Given the description of an element on the screen output the (x, y) to click on. 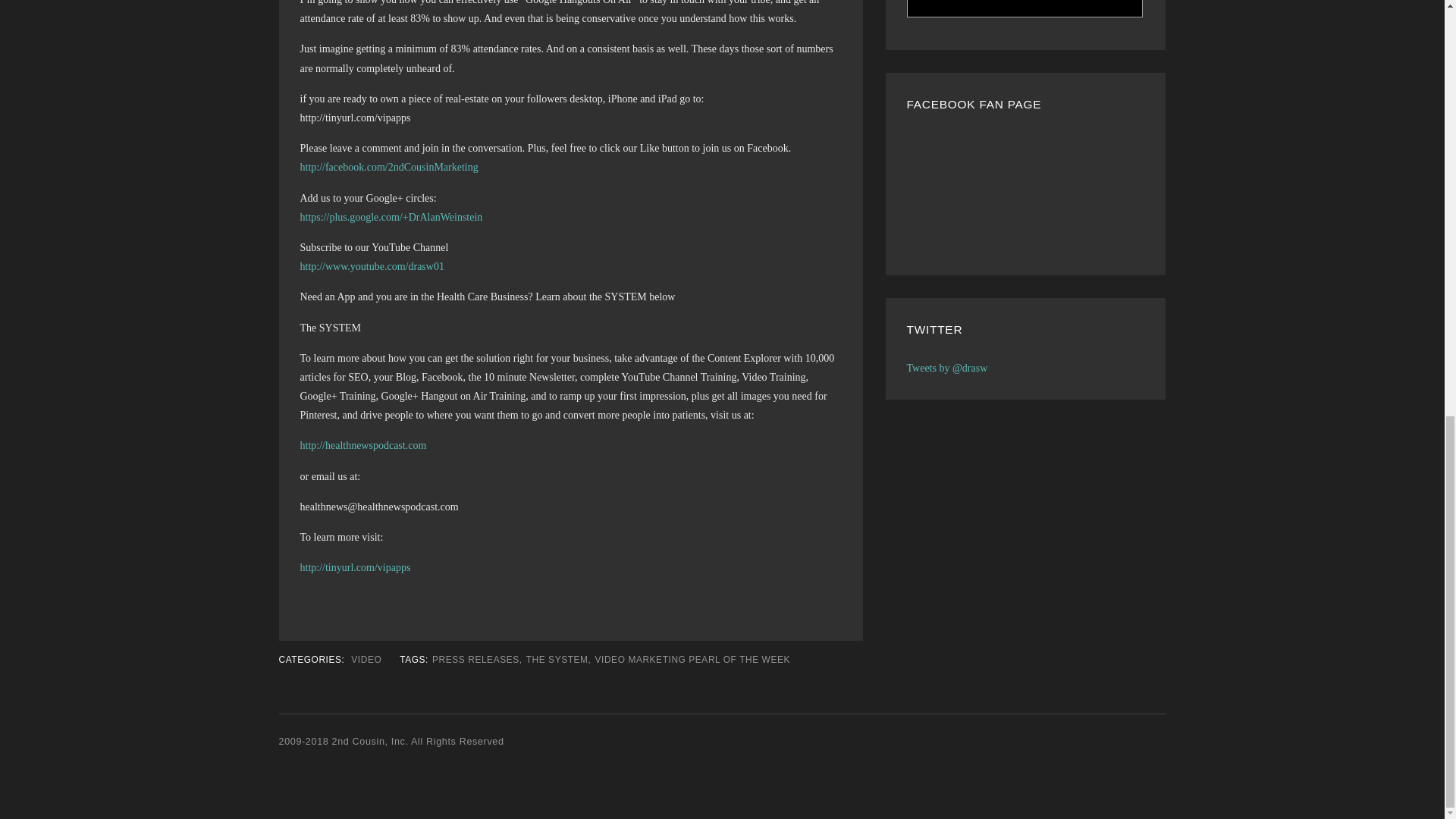
VIDEO MARKETING PEARL OF THE WEEK (692, 659)
PRESS RELEASES (475, 659)
THE SYSTEM (556, 659)
VIDEO (365, 659)
